Given the description of an element on the screen output the (x, y) to click on. 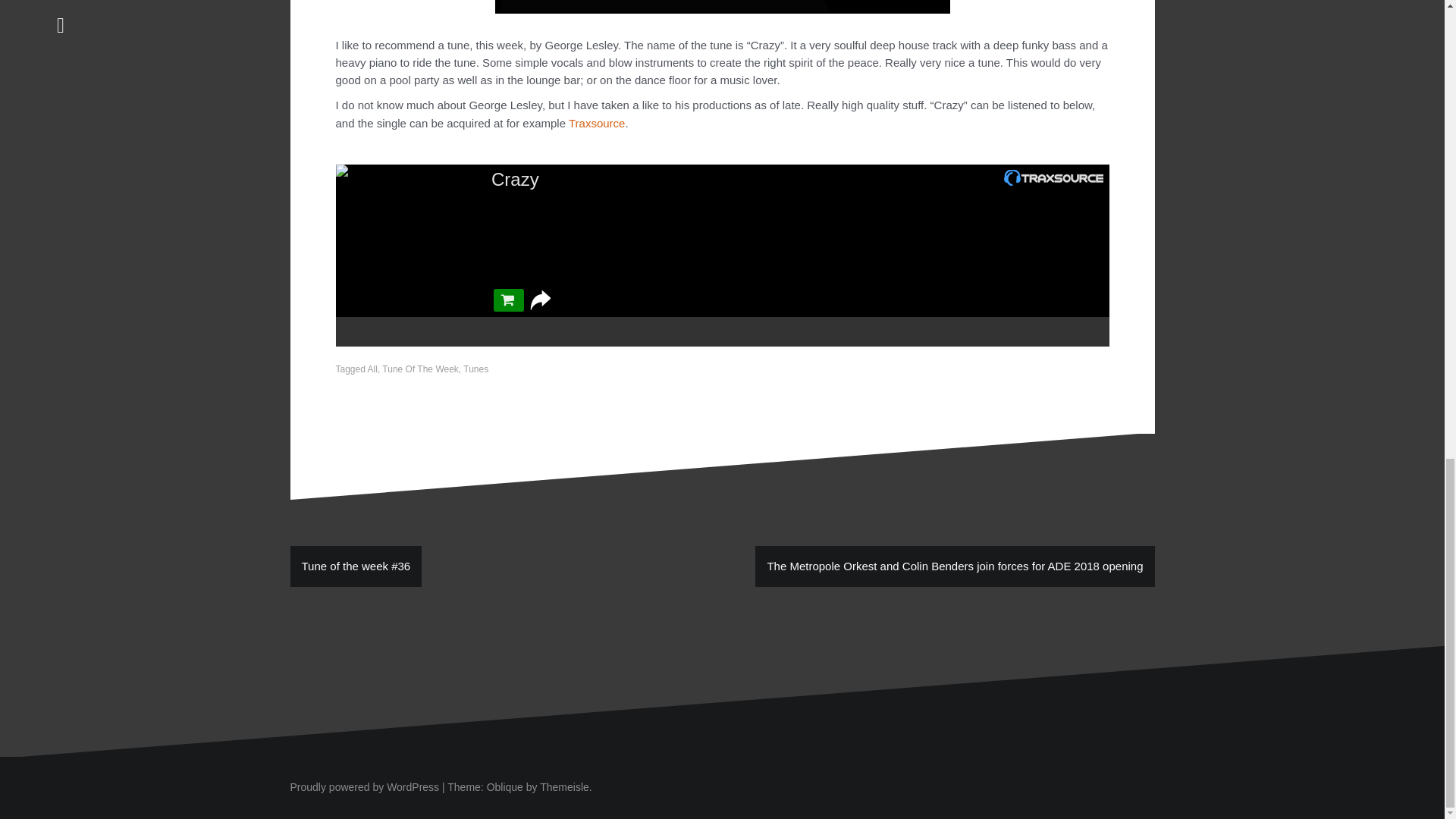
Tunes (475, 368)
All (372, 368)
Tune Of The Week (419, 368)
Traxsource (596, 123)
